Given the description of an element on the screen output the (x, y) to click on. 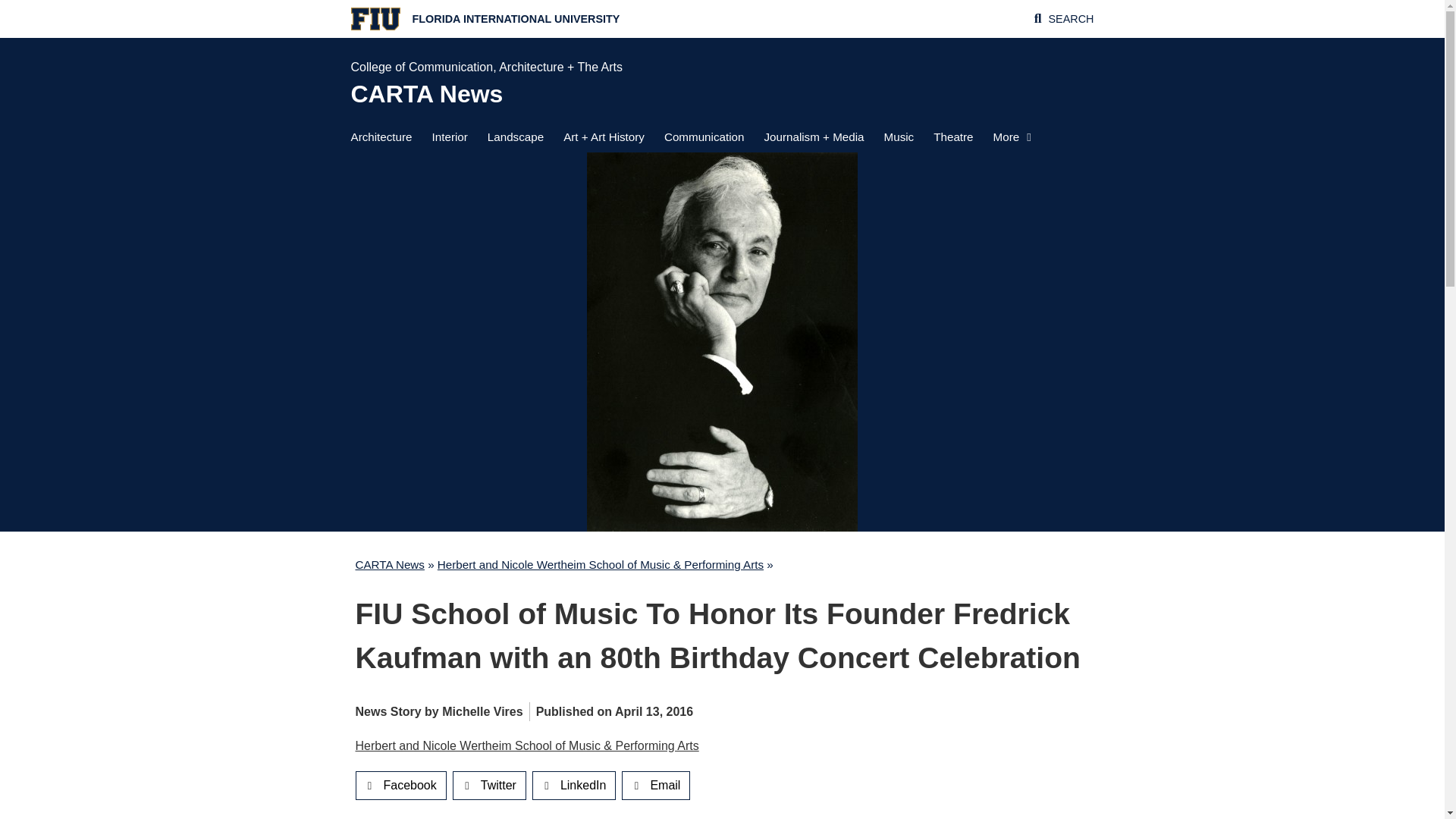
More (1011, 136)
Communication (703, 136)
CARTA News (389, 563)
FLORIDA INTERNATIONAL UNIVERSITY (516, 19)
Landscape (515, 136)
SEARCH (1071, 19)
CARTA News (426, 93)
Theatre (952, 136)
News Story by Michelle Vires (438, 711)
Architecture (381, 136)
Music (898, 136)
Interior (449, 136)
